Given the description of an element on the screen output the (x, y) to click on. 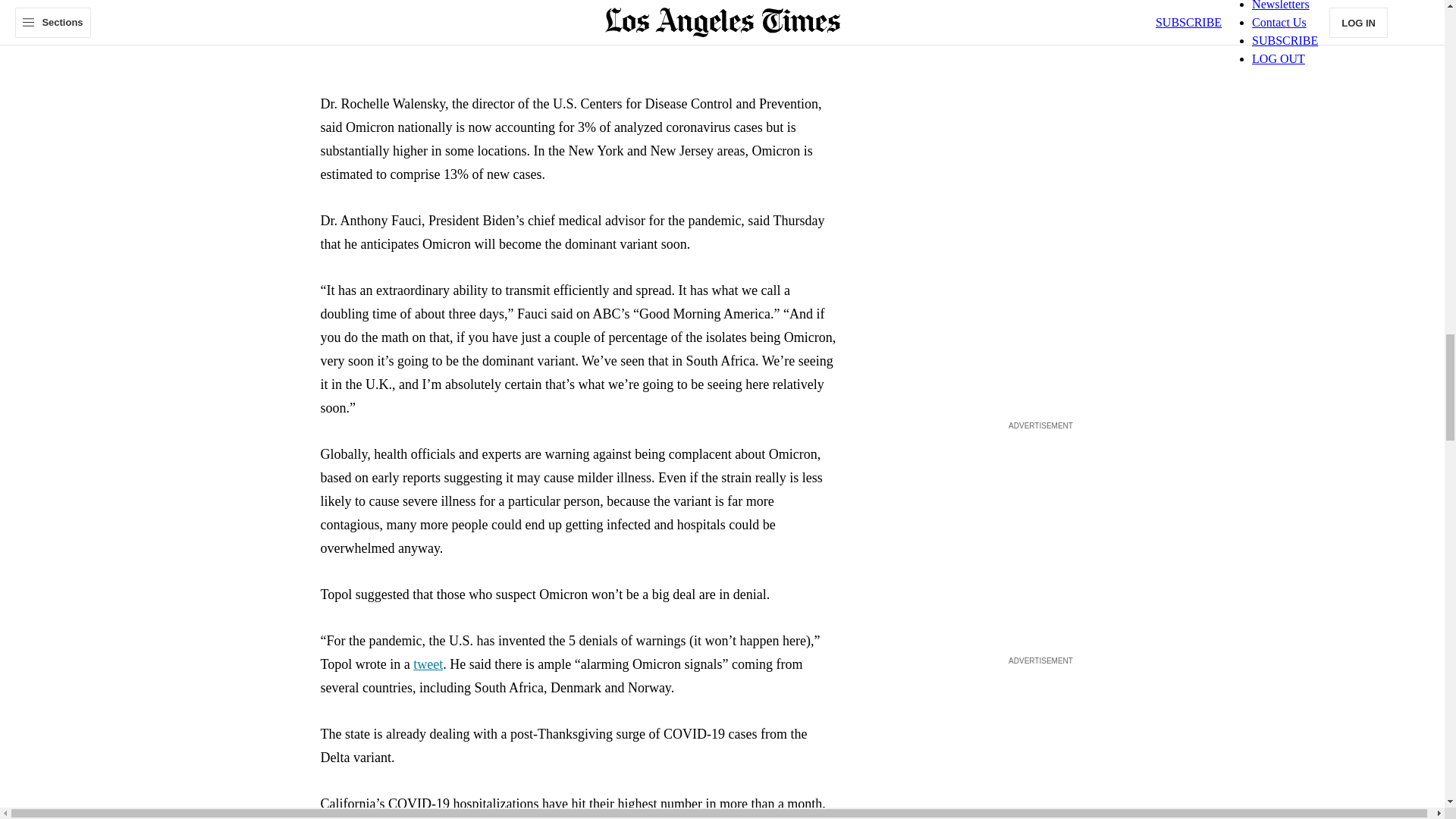
3rd party ad content (1040, 144)
